Given the description of an element on the screen output the (x, y) to click on. 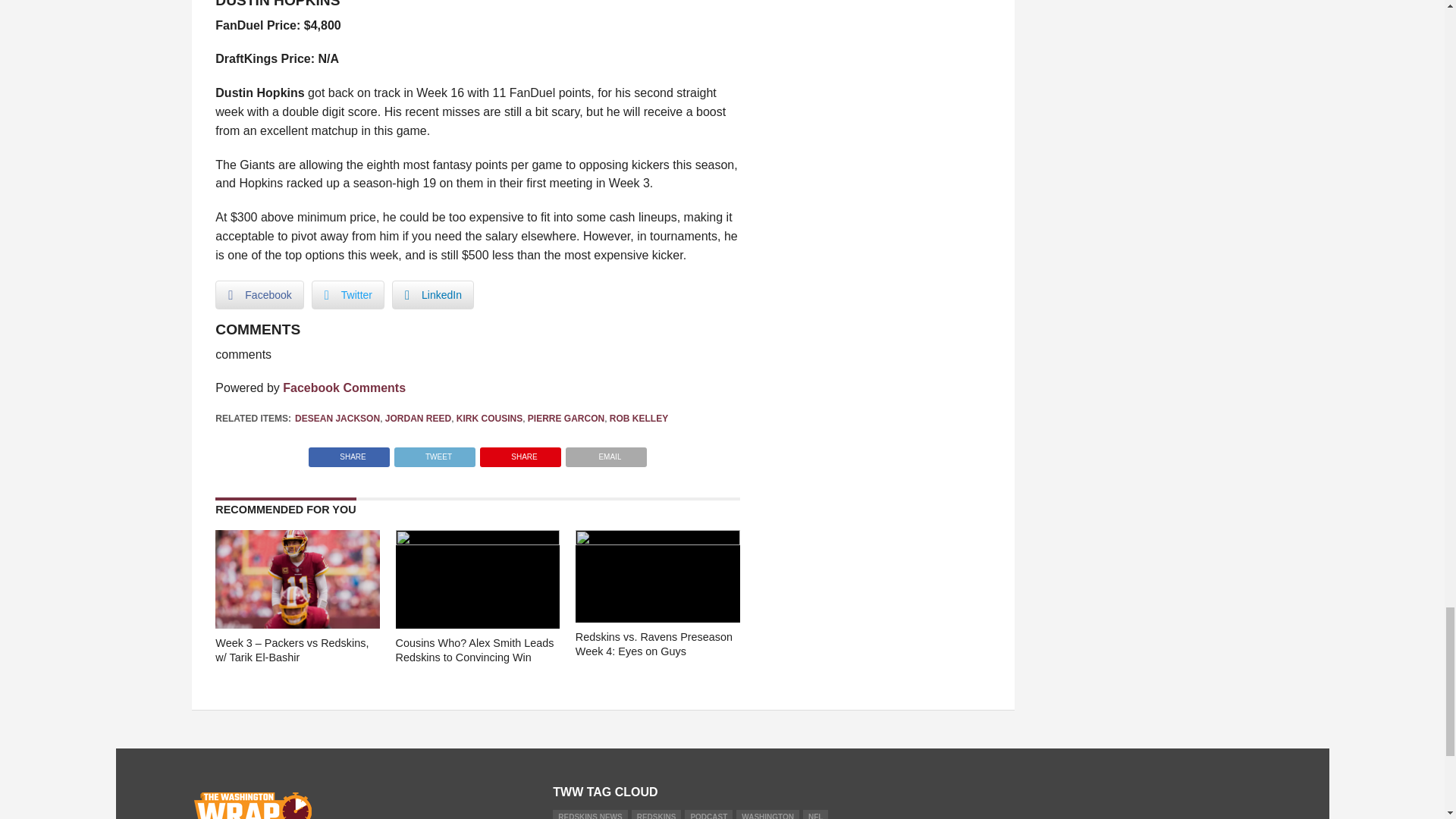
JORDAN REED (418, 418)
LinkedIn (432, 294)
Tweet This Post (434, 452)
PIERRE GARCON (565, 418)
Facebook (258, 294)
Cousins Who? Alex Smith Leads Redskins to Convincing Win (478, 540)
Pin This Post (520, 452)
EMAIL (605, 452)
Redskins vs. Ravens Preseason Week 4: Eyes on Guys (657, 540)
Twitter (347, 294)
SHARE (349, 452)
KIRK COUSINS (489, 418)
DESEAN JACKSON (337, 418)
Facebook Comments (344, 387)
Share on Facebook (349, 452)
